Given the description of an element on the screen output the (x, y) to click on. 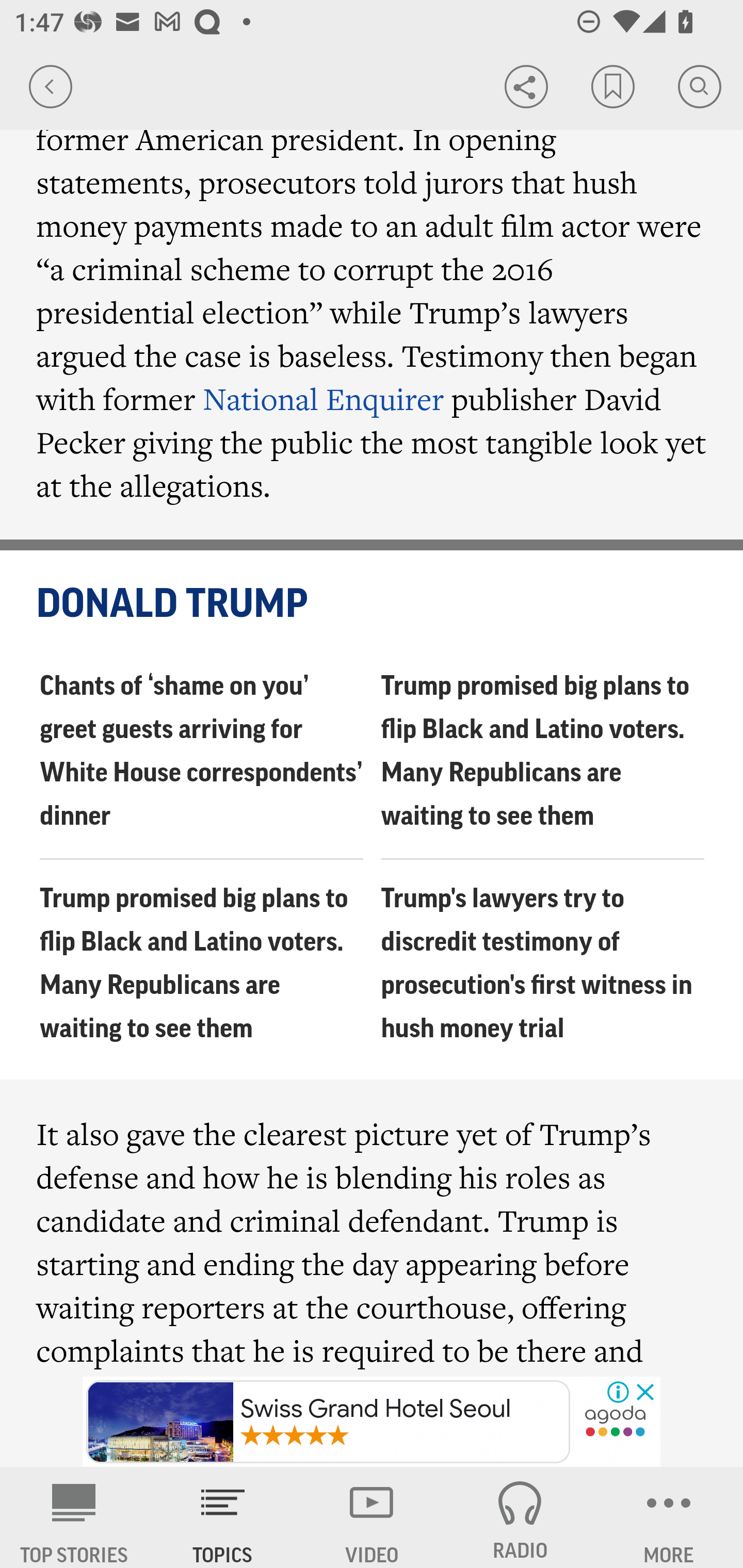
National Enquirer (323, 398)
DONALD TRUMP (372, 604)
Swiss Grand Hotel Seoul (327, 1421)
partnersearch (615, 1422)
AP News TOP STORIES (74, 1517)
TOPICS (222, 1517)
VIDEO (371, 1517)
RADIO (519, 1517)
MORE (668, 1517)
